Given the description of an element on the screen output the (x, y) to click on. 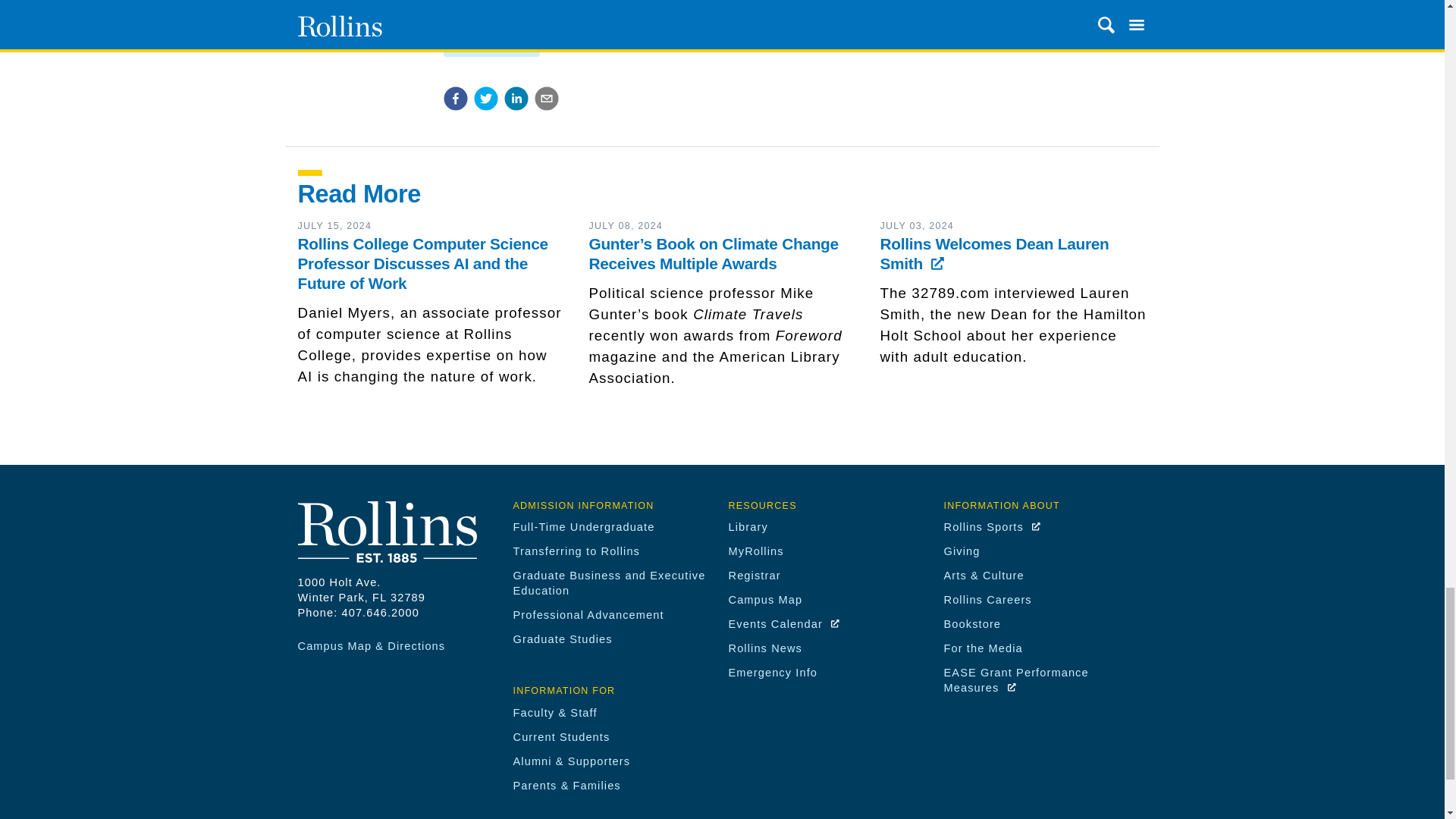
Bookstore (972, 623)
Rollins News (765, 648)
Transferring to Rollins (576, 551)
Events Calendar (784, 623)
Student Affairs (490, 47)
Library (747, 526)
Rollins Careers (986, 599)
Diversity (473, 23)
Full-Time Undergraduate (582, 526)
Giving (961, 551)
Registrar (754, 575)
Graduate Studies (561, 639)
Emergency Info (772, 672)
Current Students (561, 736)
